Given the description of an element on the screen output the (x, y) to click on. 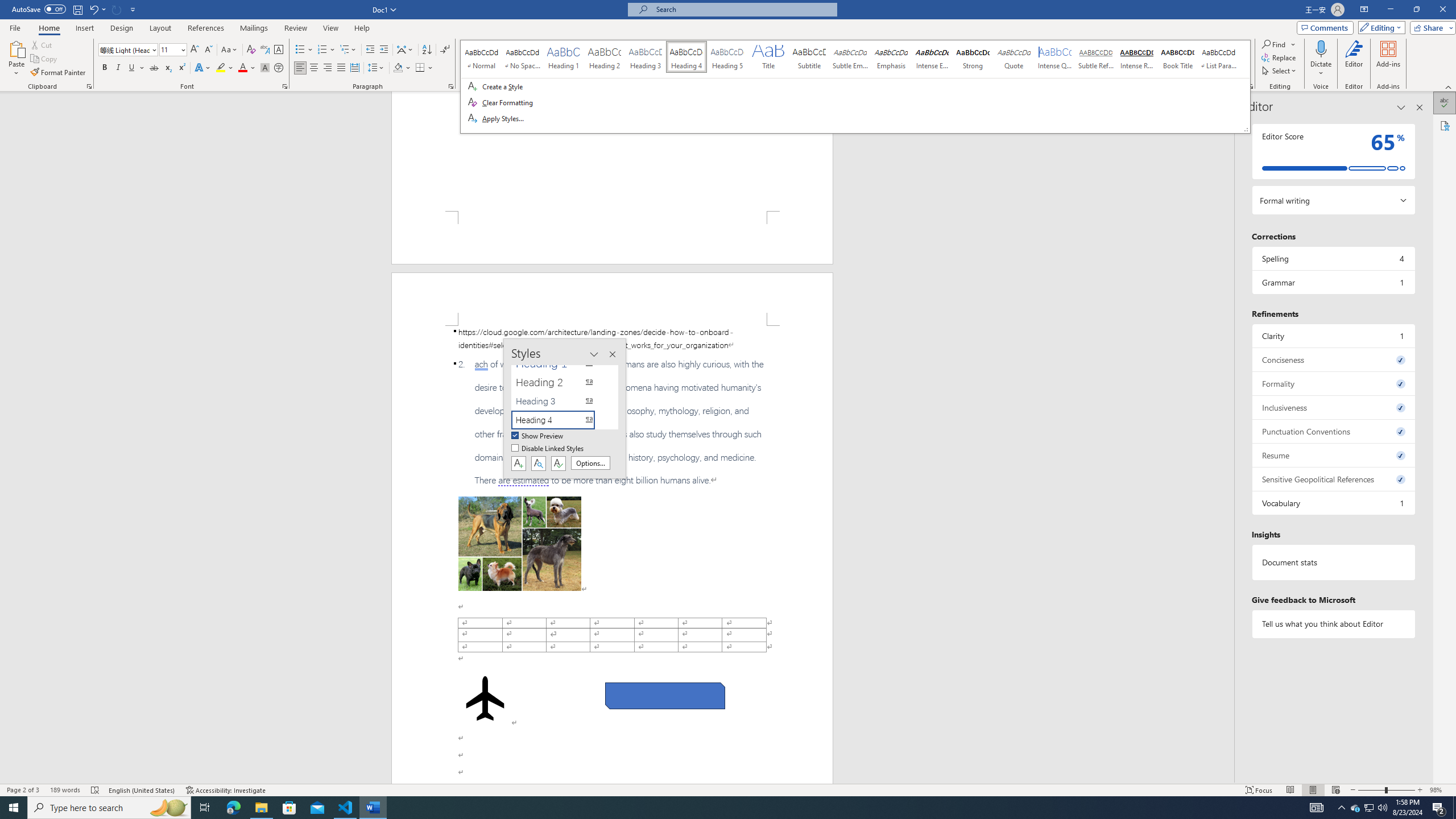
Options... (590, 463)
Accessibility (1444, 125)
Tell us what you think about Editor (1333, 624)
